Given the description of an element on the screen output the (x, y) to click on. 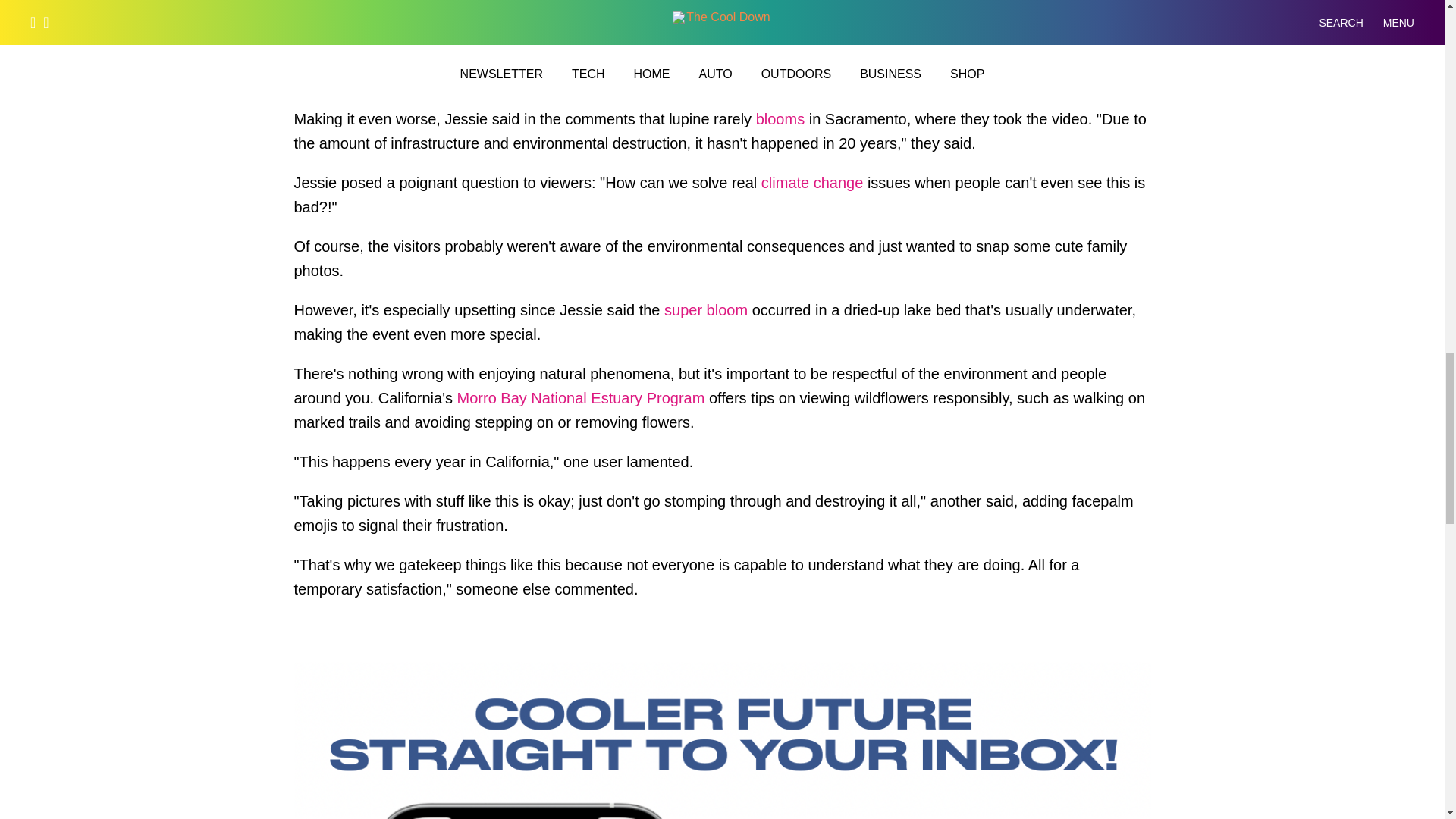
Sign Up (1038, 21)
